Given the description of an element on the screen output the (x, y) to click on. 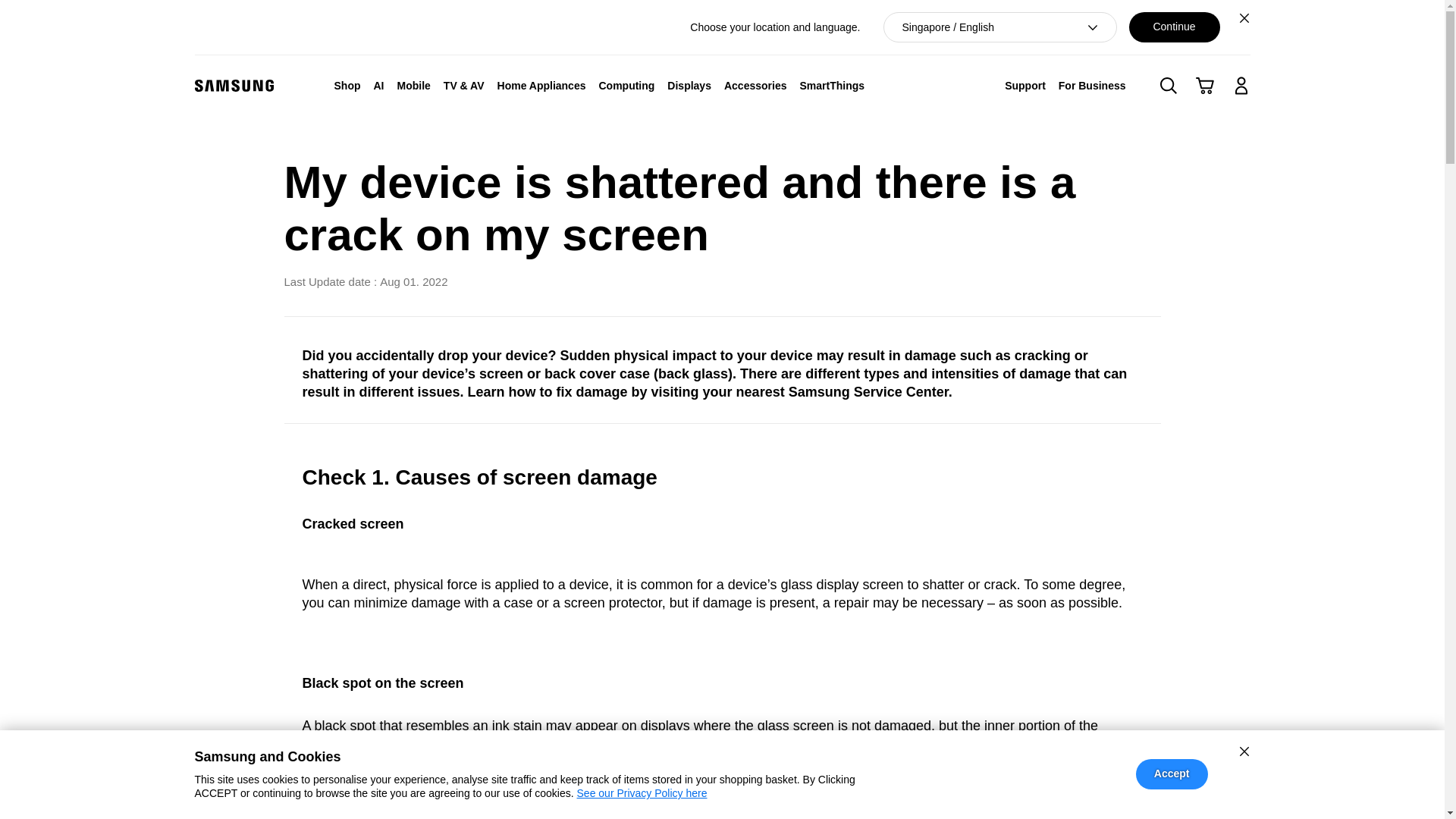
Close (1243, 17)
Shop (346, 85)
See our Privacy Policy here (641, 793)
Accept (1171, 774)
Continue (1174, 27)
Accept (1171, 774)
close (1243, 751)
